Given the description of an element on the screen output the (x, y) to click on. 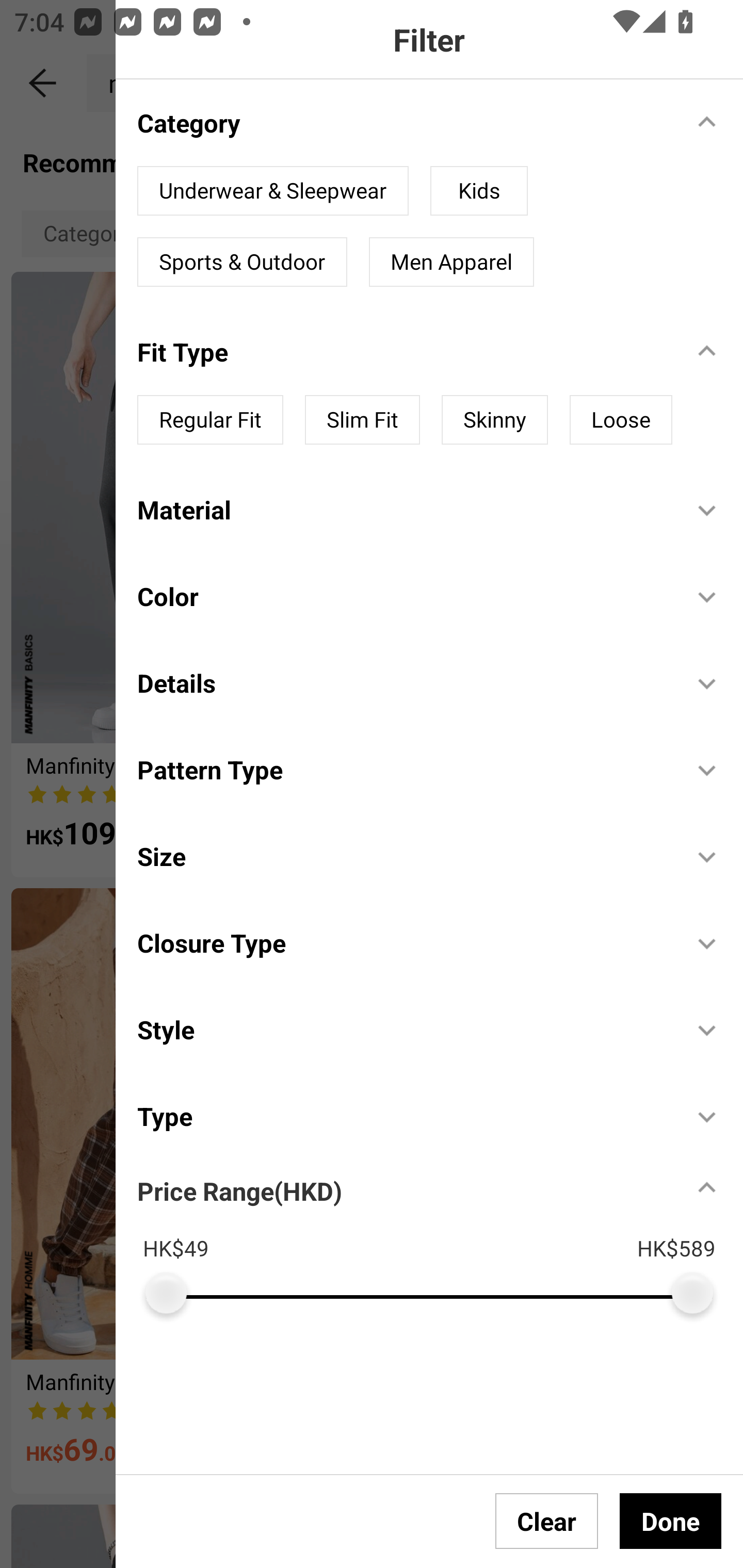
Category (403, 122)
Underwear & Sleepwear (272, 191)
Kids (478, 191)
Sports & Outdoor (241, 261)
Men Apparel (451, 261)
Fit Type (403, 351)
Regular Fit (210, 420)
Slim Fit (361, 420)
Skinny (494, 420)
Loose (620, 420)
Material (403, 509)
Color (403, 595)
Details (403, 682)
Pattern Type (403, 769)
Size (403, 856)
Closure Type (403, 942)
Style (403, 1029)
Type (403, 1116)
Price Range(HKD) HK$49 HK$589 (440, 1236)
Price Range(HKD) (239, 1190)
Clear (546, 1520)
Done (670, 1520)
